Given the description of an element on the screen output the (x, y) to click on. 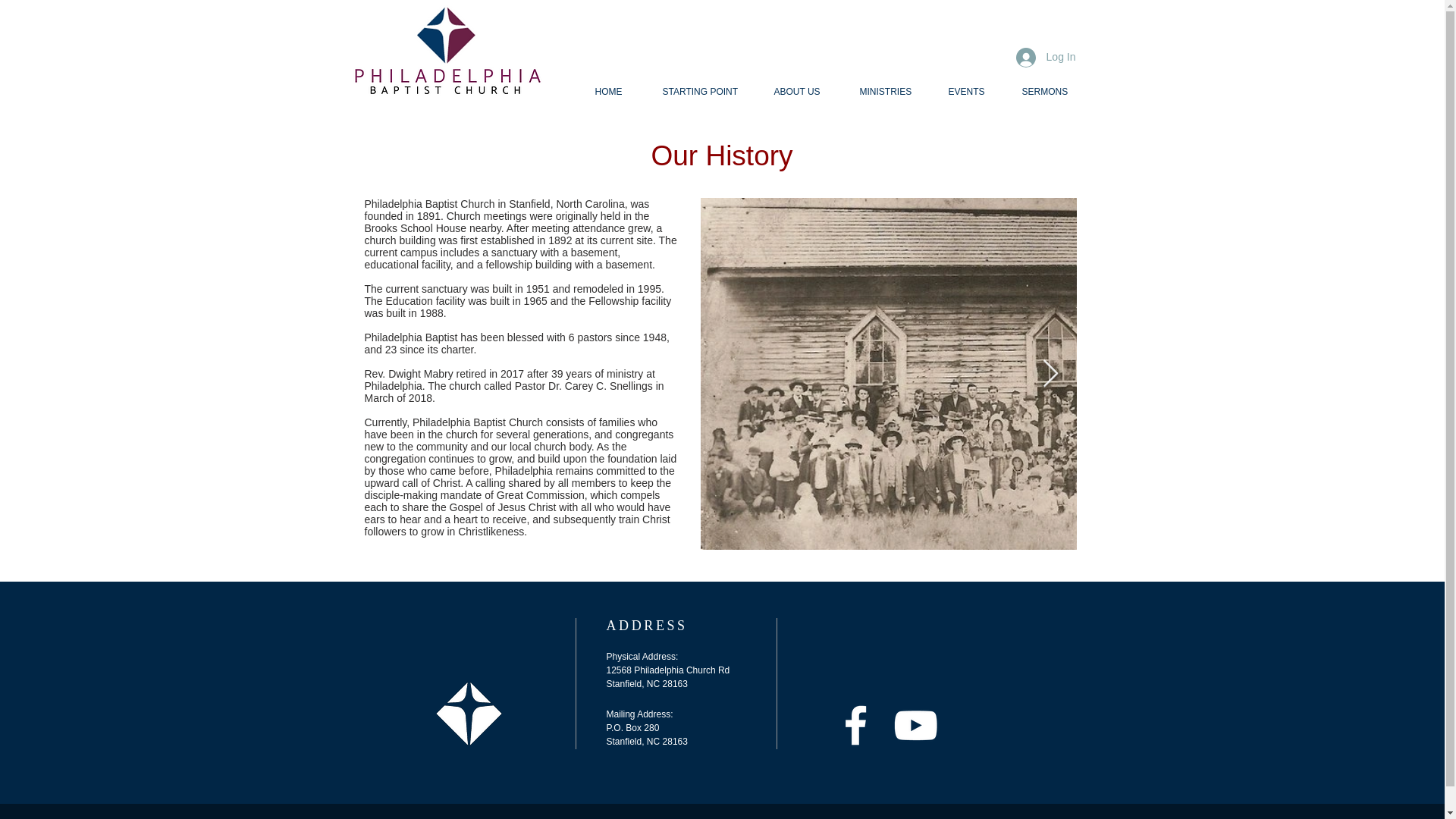
SERMONS (1051, 91)
Log In (1046, 57)
Wix.com (590, 818)
HOME (616, 91)
EVENTS (973, 91)
STARTING POINT (705, 91)
